Given the description of an element on the screen output the (x, y) to click on. 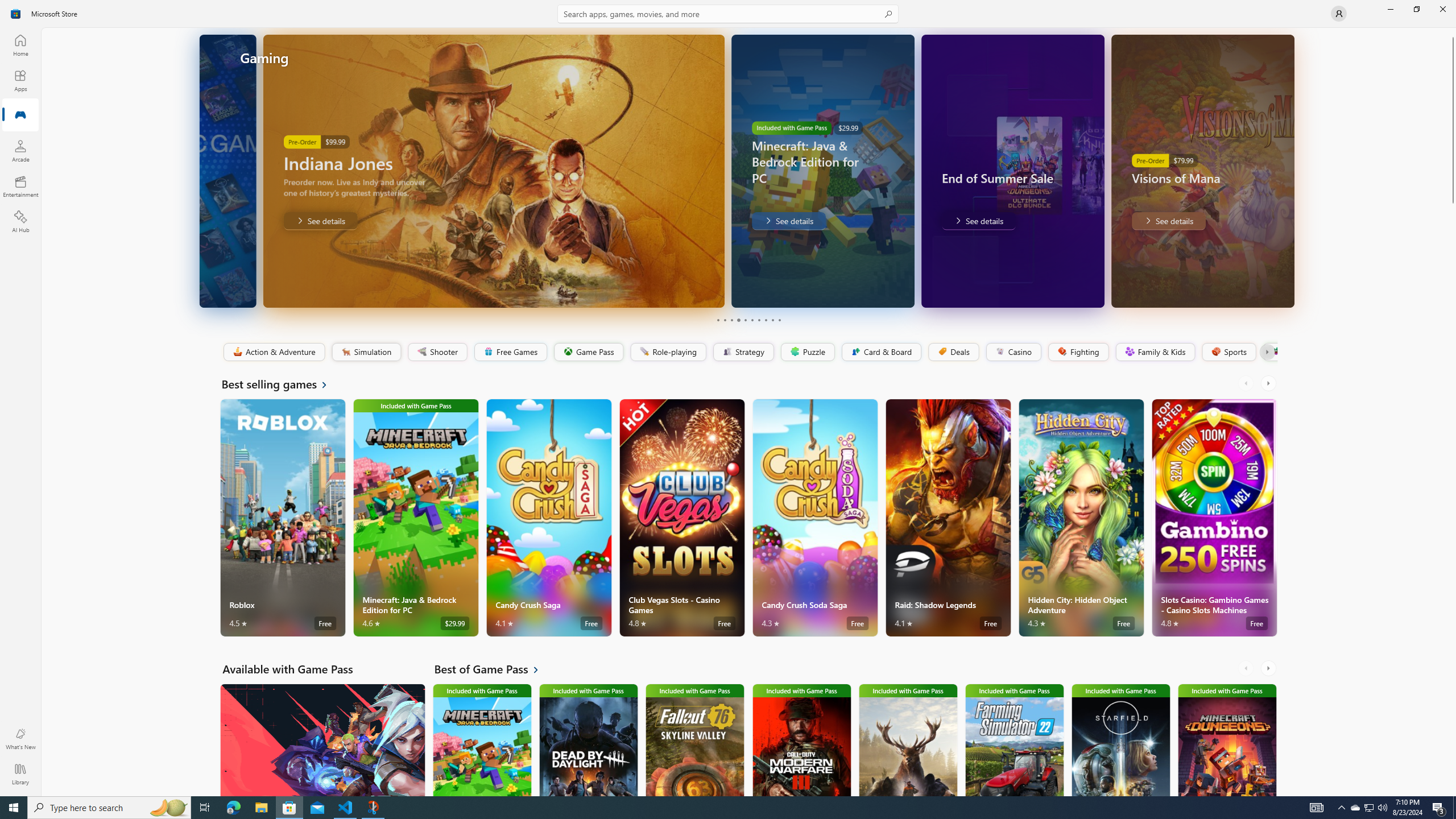
Class: Image (1274, 351)
Page 7 (758, 319)
Available with Game Pass. VALORANT (322, 739)
Class: Button (1266, 351)
Page 10 (779, 319)
Restore Microsoft Store (1416, 9)
Vertical (1452, 412)
Vertical Small Decrease (1452, 31)
Pager (748, 319)
Fighting (1078, 352)
Page 1 (717, 319)
End of Summer Sale. Save up to 80%.  . See details (961, 221)
Platformer (1269, 352)
